Given the description of an element on the screen output the (x, y) to click on. 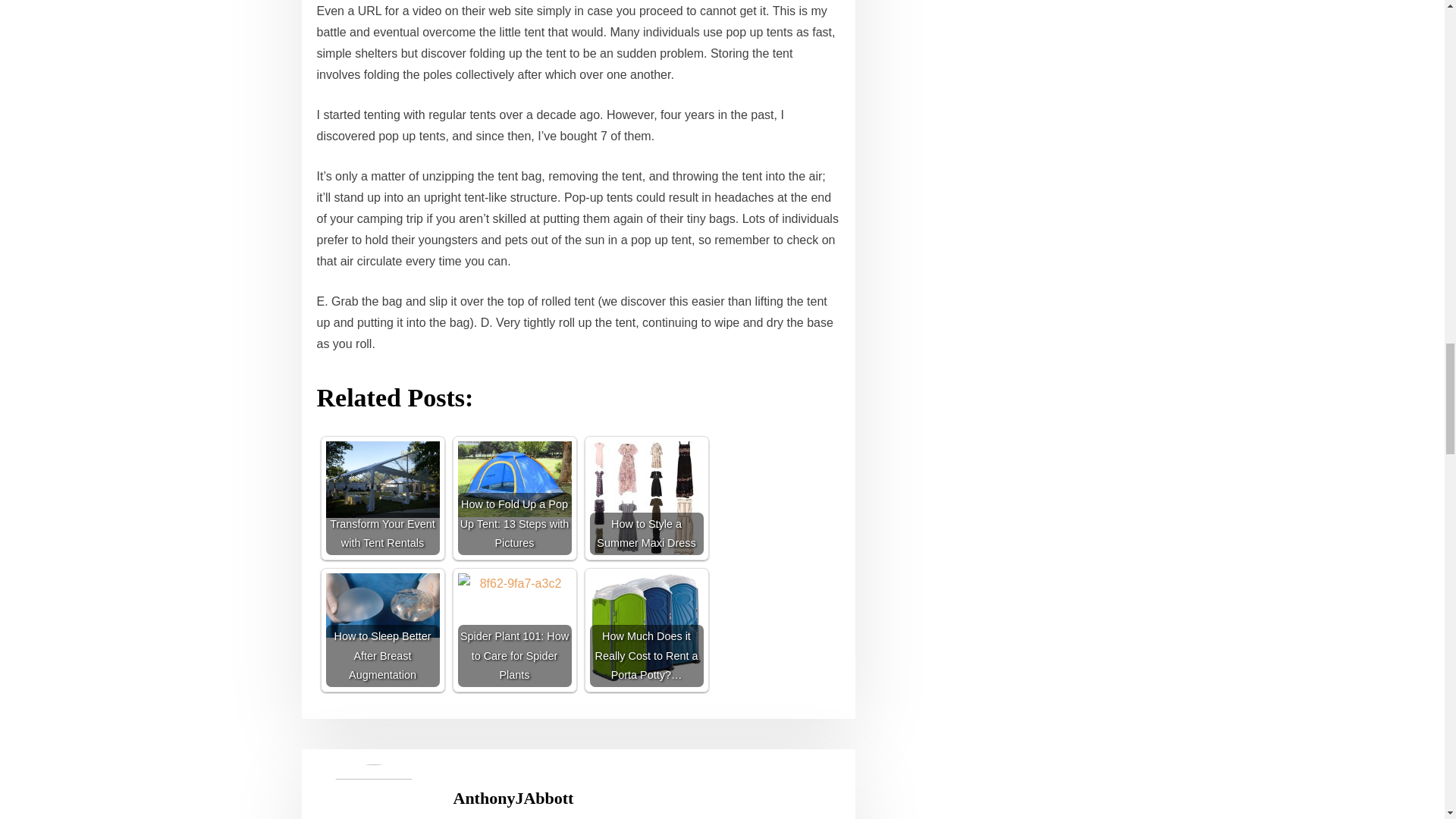
How to Style a Summer Maxi Dress (646, 498)
How to Sleep Better After Breast Augmentation (382, 630)
How to Fold Up a Pop Up Tent: 13 Steps with Pictures (515, 478)
Spider Plant 101: How to Care for Spider Plants (515, 630)
Transform Your Event with Tent Rentals (382, 498)
How to Sleep Better After Breast Augmentation (382, 605)
Transform Your Event with Tent Rentals (382, 479)
How to Style a Summer Maxi Dress (646, 498)
Spider Plant 101: How to Care for Spider Plants (515, 630)
How to Fold Up a Pop Up Tent: 13 Steps with Pictures (515, 498)
